Given the description of an element on the screen output the (x, y) to click on. 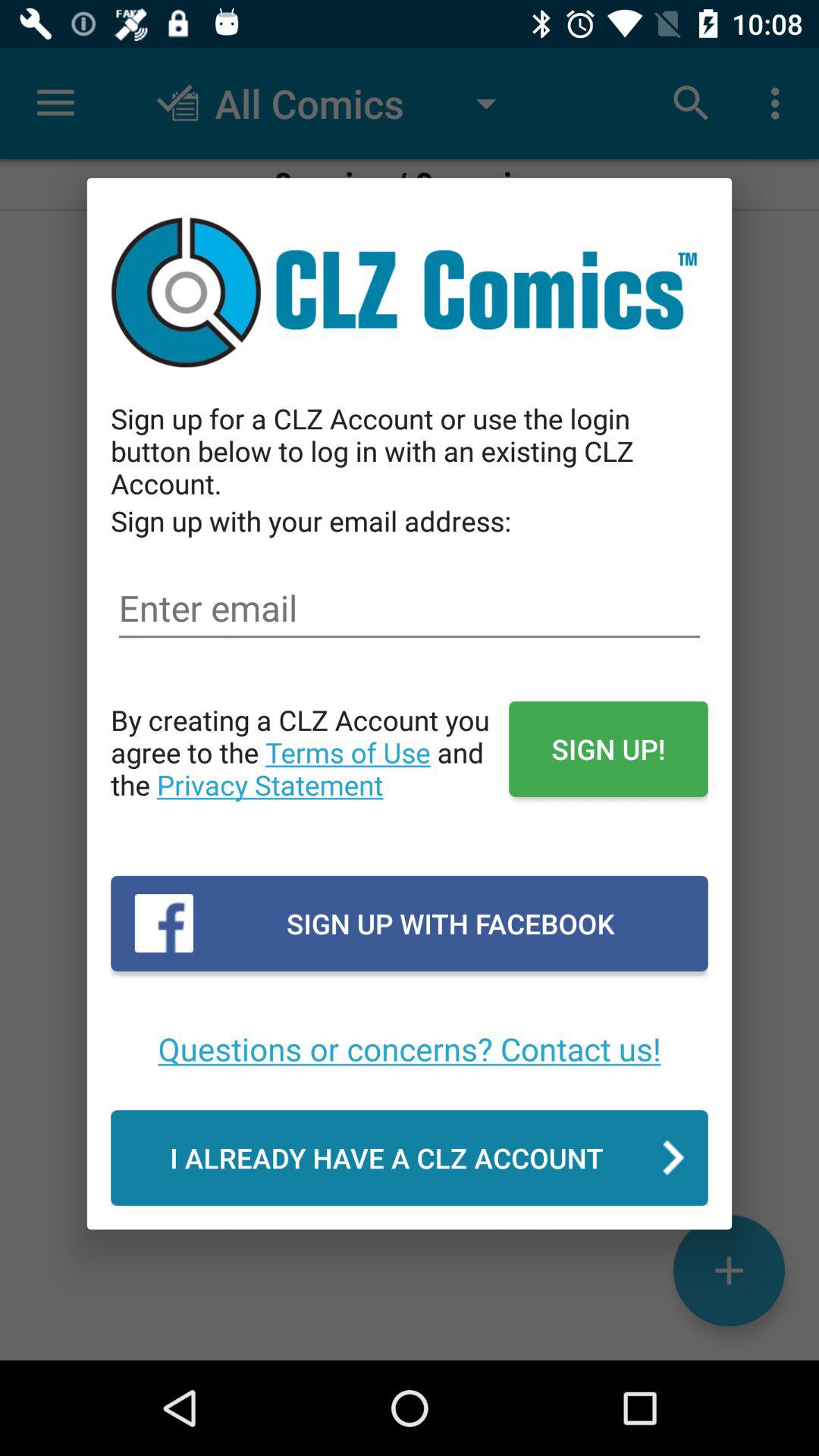
swipe to the i already have (409, 1157)
